Given the description of an element on the screen output the (x, y) to click on. 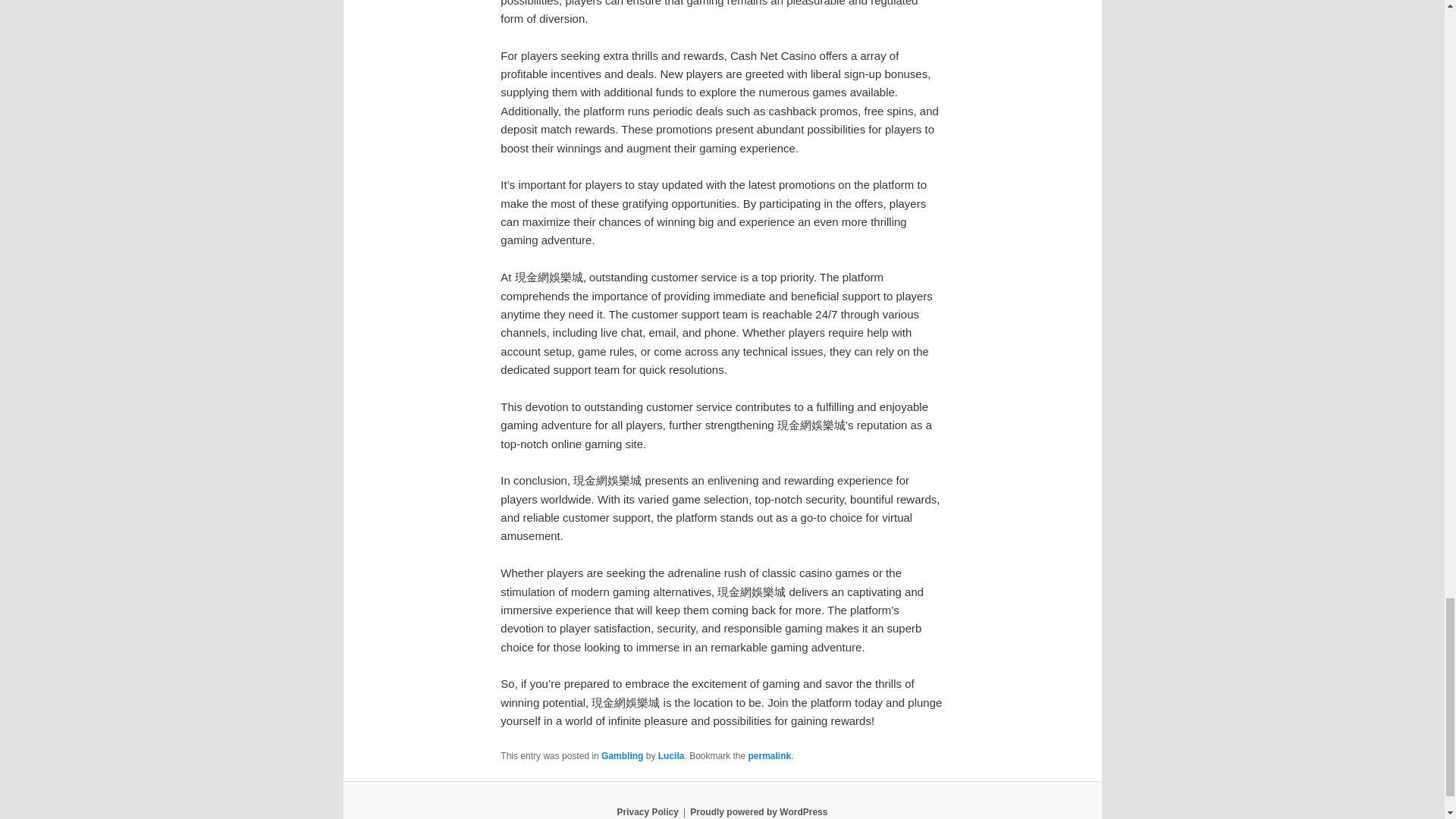
Privacy Policy (646, 811)
permalink (770, 756)
Permalink to Cash Net Casino: Your Gateway to Gaming Riches (770, 756)
Semantic Personal Publishing Platform (758, 811)
Proudly powered by WordPress (758, 811)
Gambling (622, 756)
Lucila (671, 756)
